Given the description of an element on the screen output the (x, y) to click on. 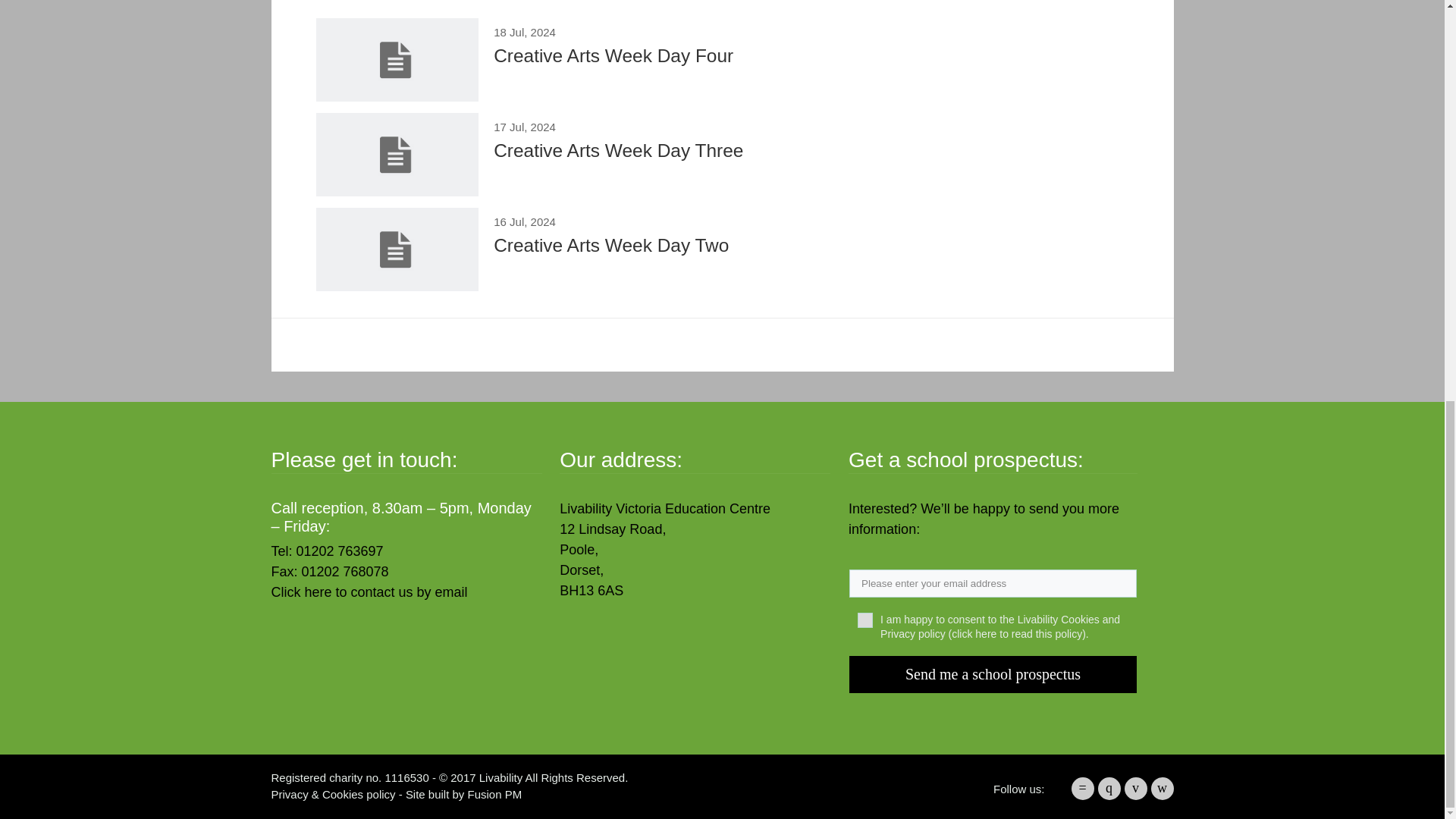
Click here to contact us by email (368, 591)
Fusion PM (721, 249)
Send me a school prospectus (494, 793)
